Given the description of an element on the screen output the (x, y) to click on. 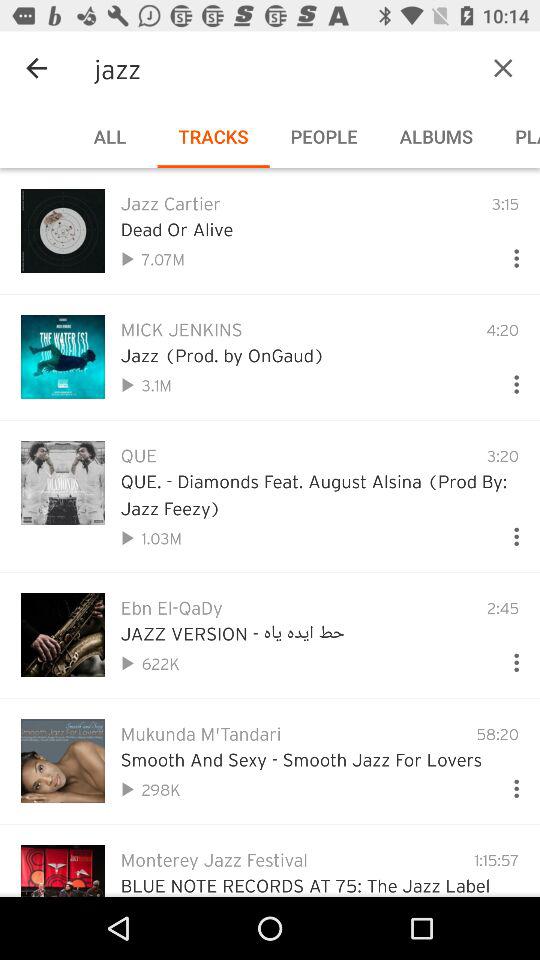
more options (508, 658)
